Given the description of an element on the screen output the (x, y) to click on. 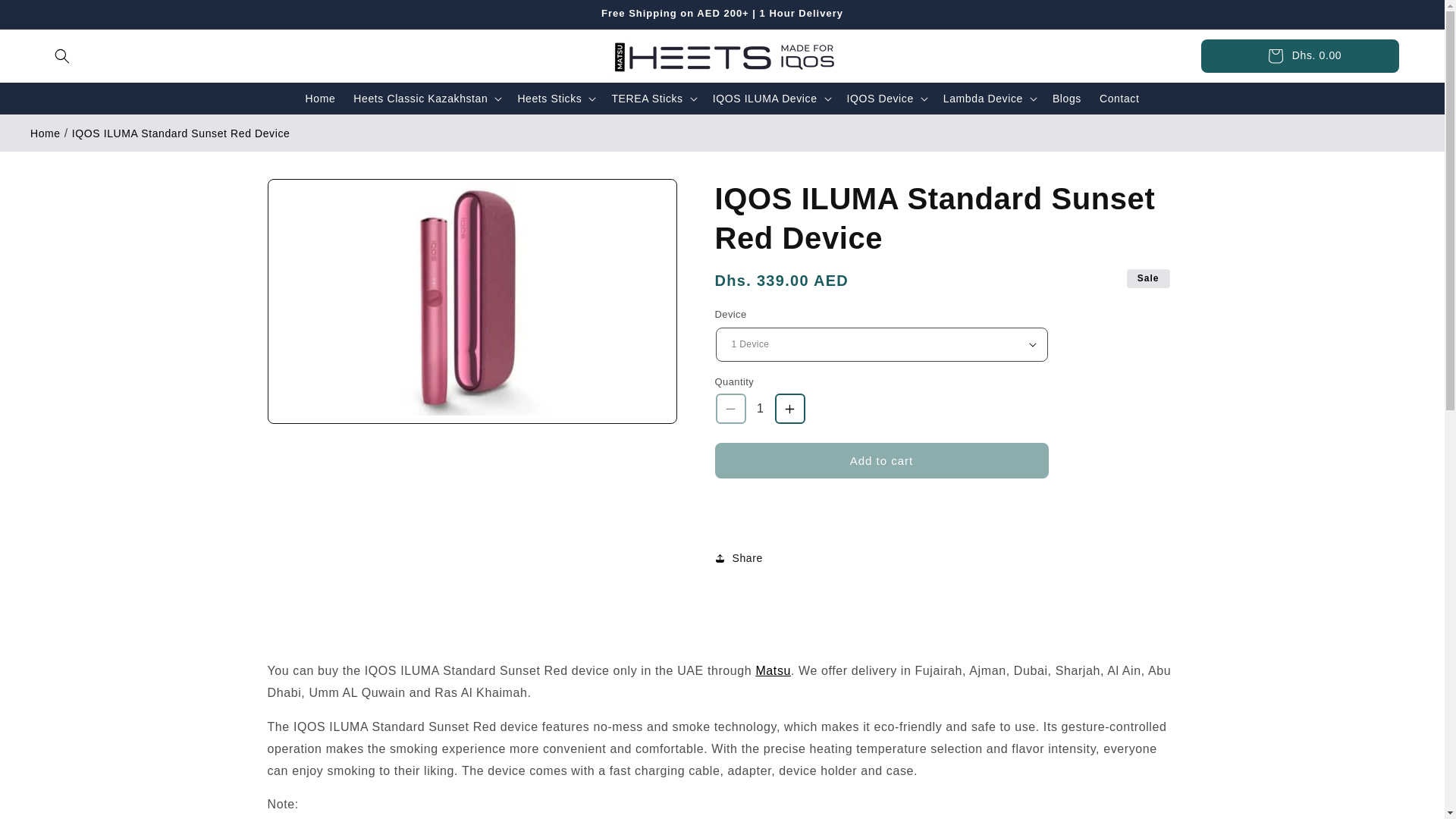
Home (321, 97)
Skip to content (45, 17)
1 (759, 408)
